Given the description of an element on the screen output the (x, y) to click on. 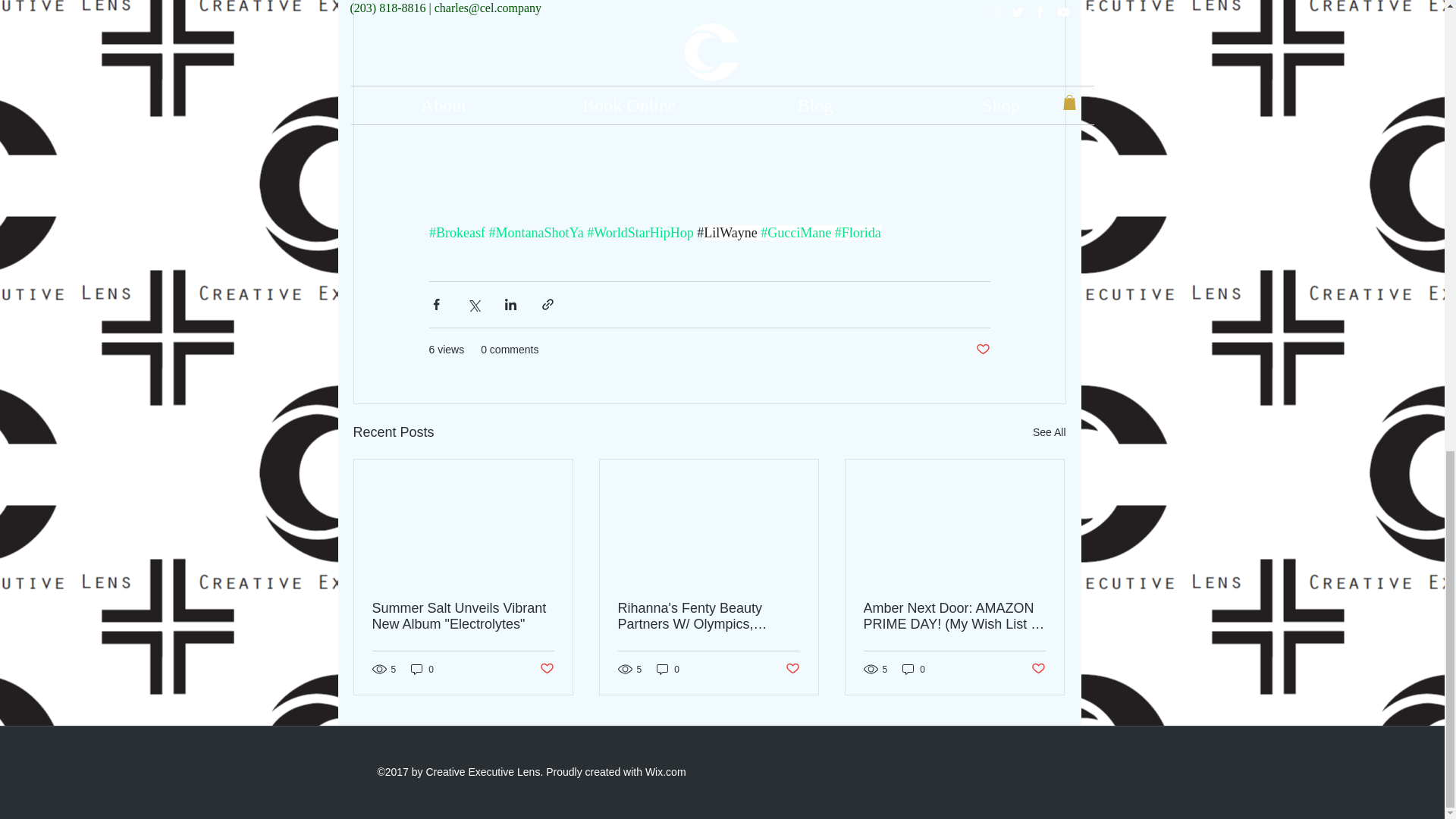
Post not marked as liked (982, 349)
0 (913, 668)
Summer Salt Unveils Vibrant New Album "Electrolytes" (462, 616)
0 (668, 668)
0 (422, 668)
Post not marked as liked (547, 668)
Post not marked as liked (792, 668)
See All (1048, 432)
